Given the description of an element on the screen output the (x, y) to click on. 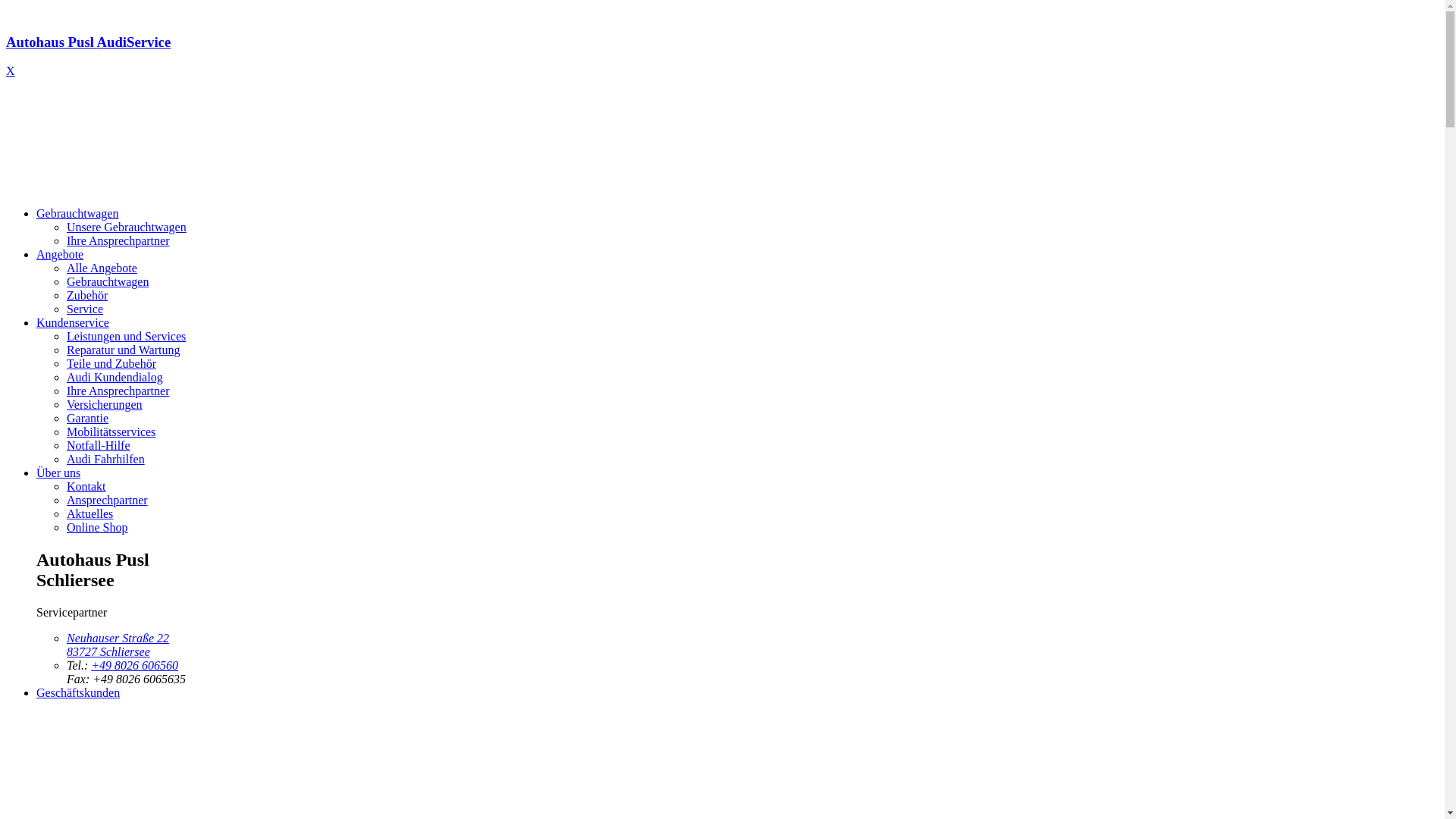
Unsere Gebrauchtwagen Element type: text (126, 226)
Autohaus Pusl AudiService Element type: text (722, 56)
Notfall-Hilfe Element type: text (98, 445)
Audi Fahrhilfen Element type: text (105, 458)
+49 8026 606560 Element type: text (134, 664)
Versicherungen Element type: text (104, 404)
Ihre Ansprechpartner Element type: text (117, 240)
Aktuelles Element type: text (89, 513)
Gebrauchtwagen Element type: text (77, 213)
Service Element type: text (84, 308)
Leistungen und Services Element type: text (125, 335)
Reparatur und Wartung Element type: text (122, 349)
Angebote Element type: text (59, 253)
Gebrauchtwagen Element type: text (107, 281)
Online Shop Element type: text (96, 526)
Ansprechpartner Element type: text (106, 499)
X Element type: text (10, 70)
Alle Angebote Element type: text (101, 267)
Kundenservice Element type: text (72, 322)
Kontakt Element type: text (86, 486)
Garantie Element type: text (87, 417)
Audi Kundendialog Element type: text (114, 376)
Ihre Ansprechpartner Element type: text (117, 390)
